Given the description of an element on the screen output the (x, y) to click on. 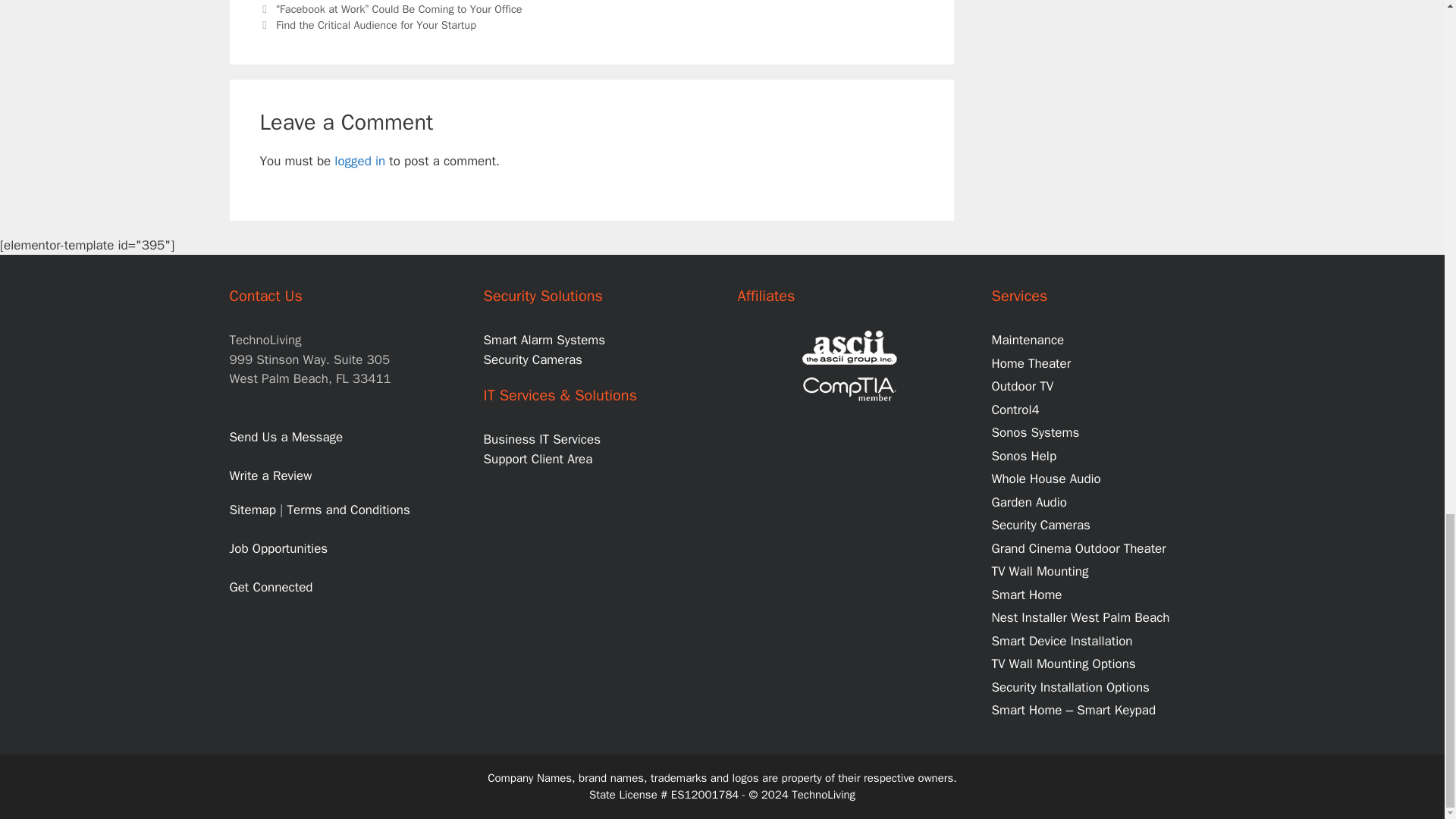
Sitemap (251, 509)
Find the Critical Audience for Your Startup (376, 24)
logged in (359, 160)
Job Opportunities (277, 548)
Terms and Conditions (348, 509)
Write a Review (269, 475)
Get Connected (270, 587)
Smart Alarm Systems (544, 340)
Business IT Services (542, 439)
Security Cameras (532, 359)
Send Us a Message (285, 437)
